Given the description of an element on the screen output the (x, y) to click on. 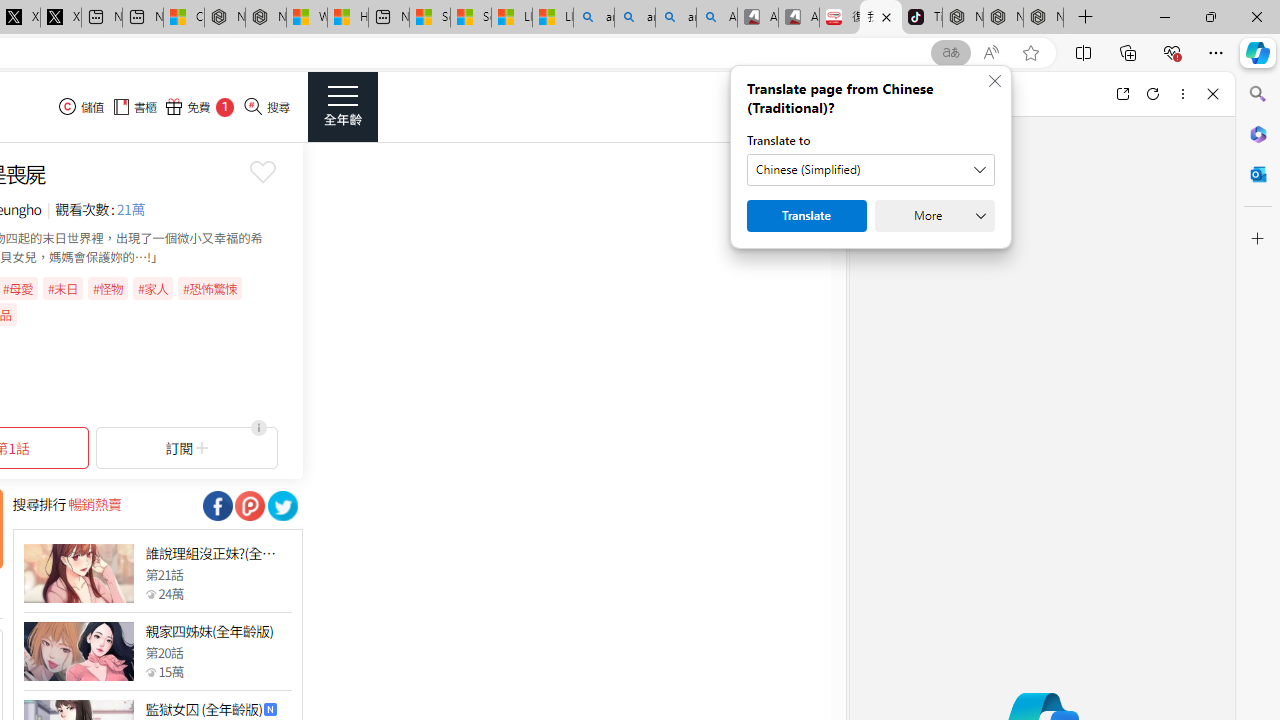
Class: thumb_img (78, 651)
Translate (806, 215)
